Given the description of an element on the screen output the (x, y) to click on. 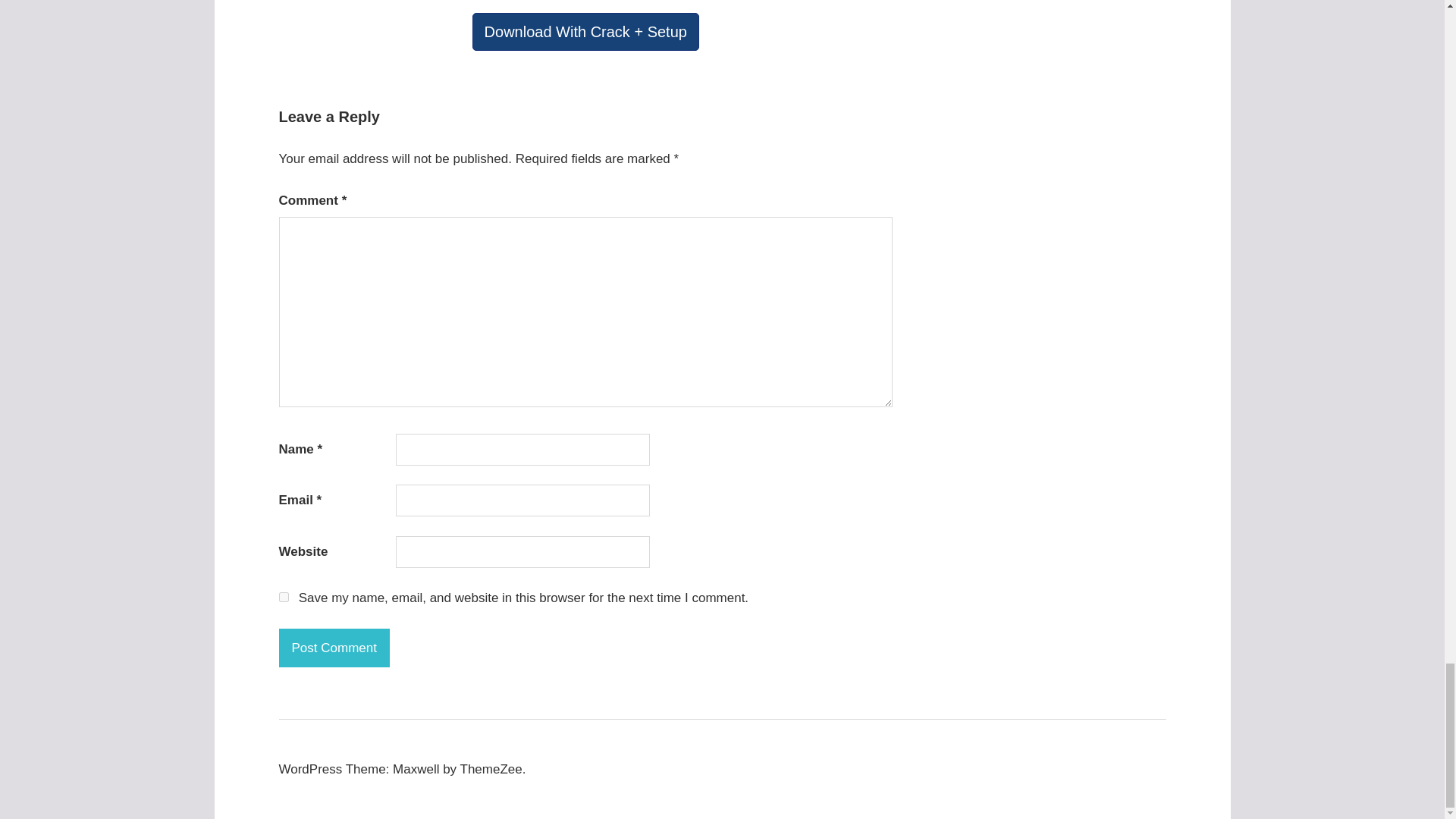
yes (283, 596)
Post Comment (334, 647)
